Given the description of an element on the screen output the (x, y) to click on. 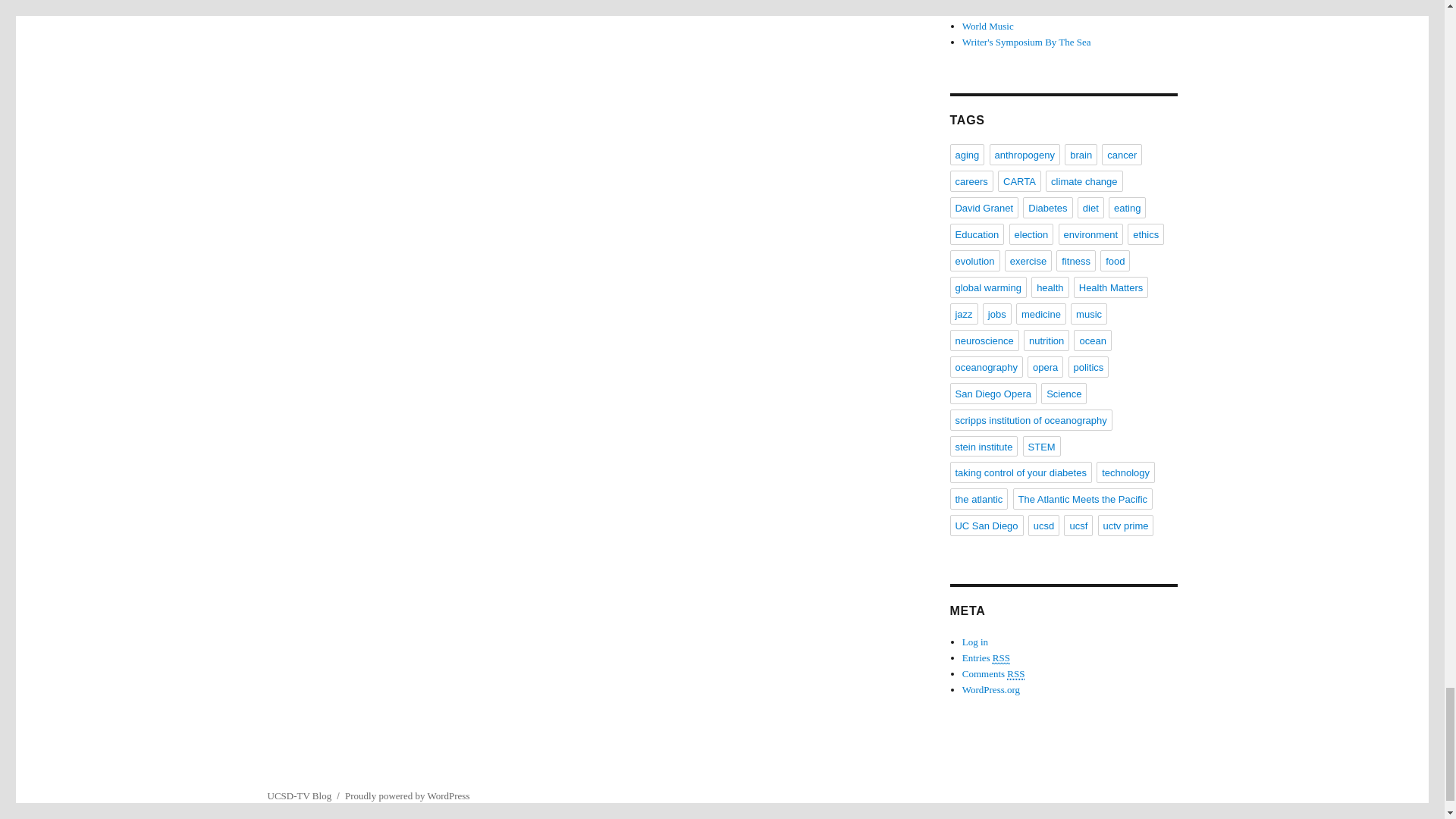
Really Simple Syndication (1001, 657)
Really Simple Syndication (1016, 674)
